Given the description of an element on the screen output the (x, y) to click on. 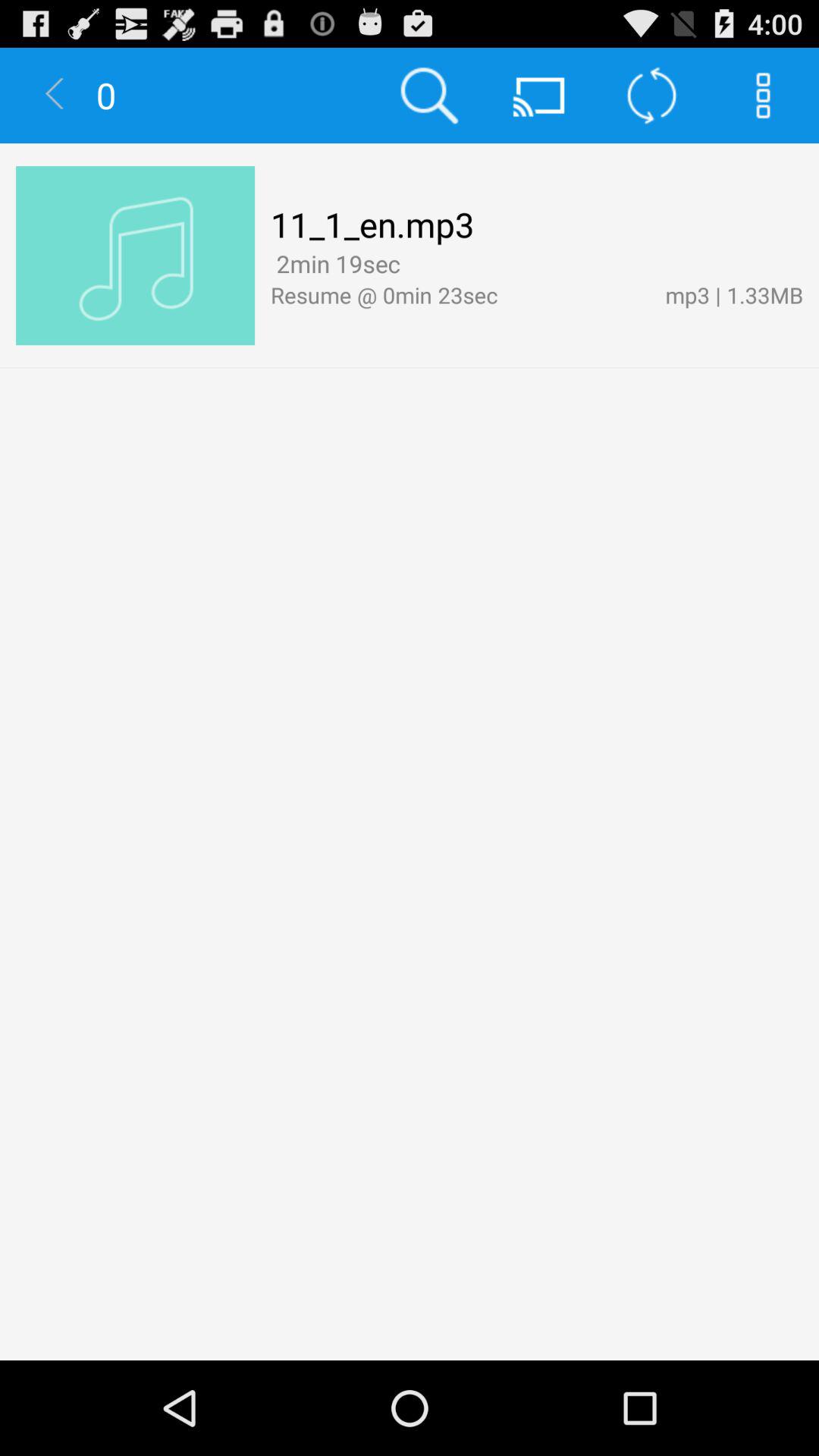
open item above resume @ 0min 23sec (411, 265)
